Given the description of an element on the screen output the (x, y) to click on. 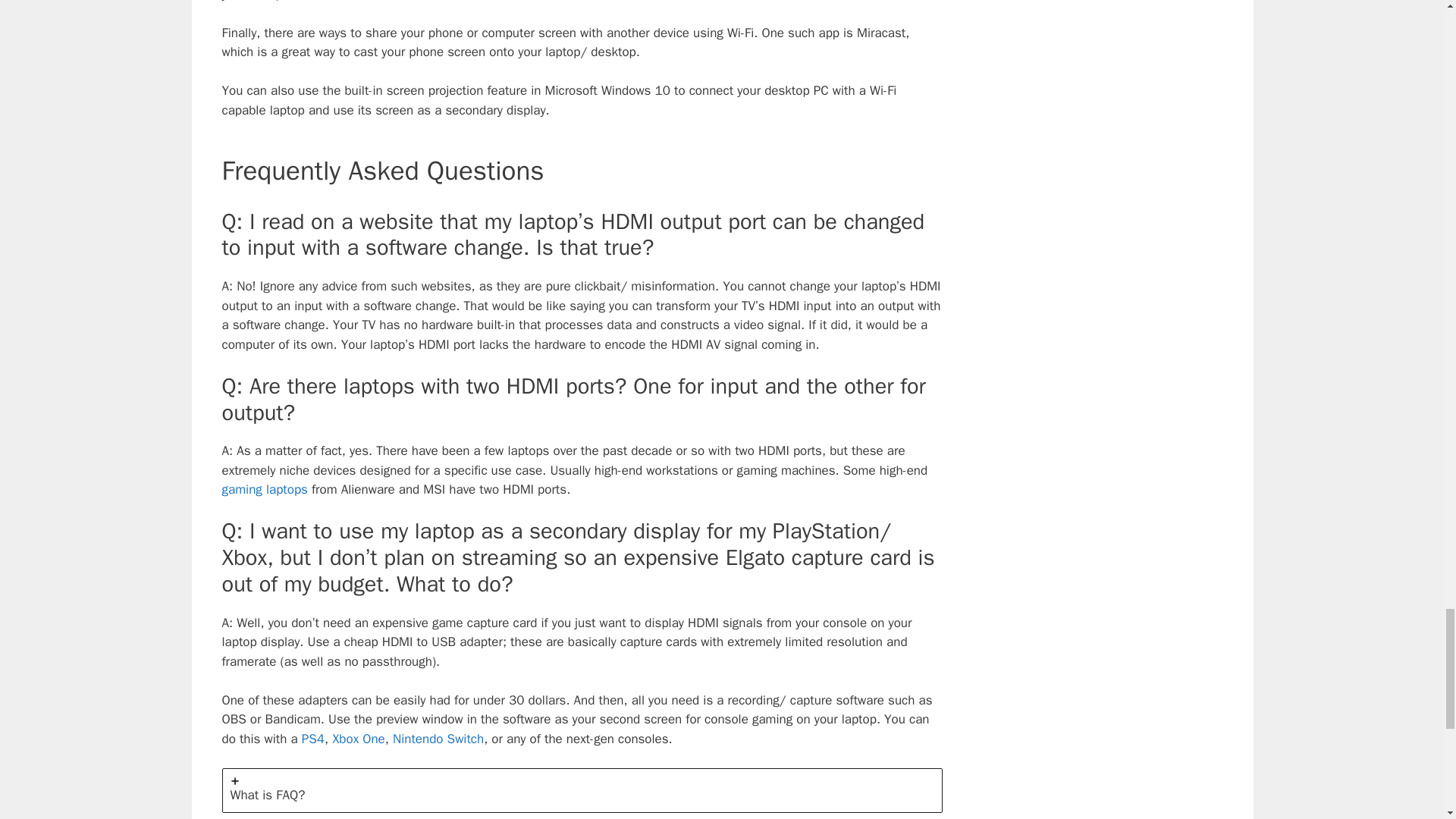
Nintendo Switch (438, 738)
Xbox One (358, 738)
PS4 (312, 738)
gaming laptops (264, 489)
